Given the description of an element on the screen output the (x, y) to click on. 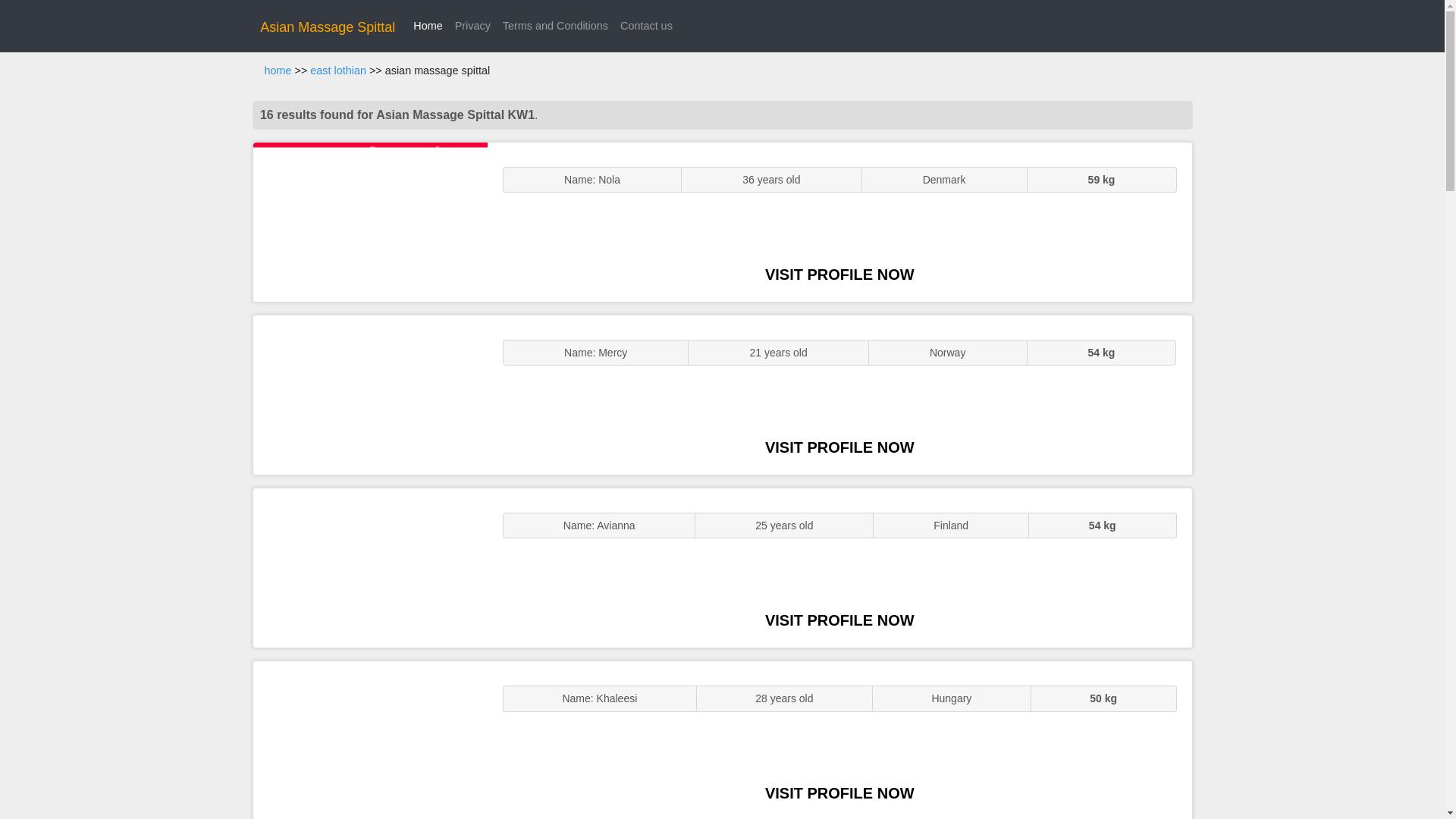
VISIT PROFILE NOW (839, 619)
east lothian (338, 70)
Sexy (370, 567)
Privacy (472, 25)
GFE (370, 395)
Asian Massage Spittal (327, 27)
 ENGLISH STUNNER (370, 222)
home (277, 70)
VISIT PROFILE NOW (839, 792)
Contact us (646, 25)
